Given the description of an element on the screen output the (x, y) to click on. 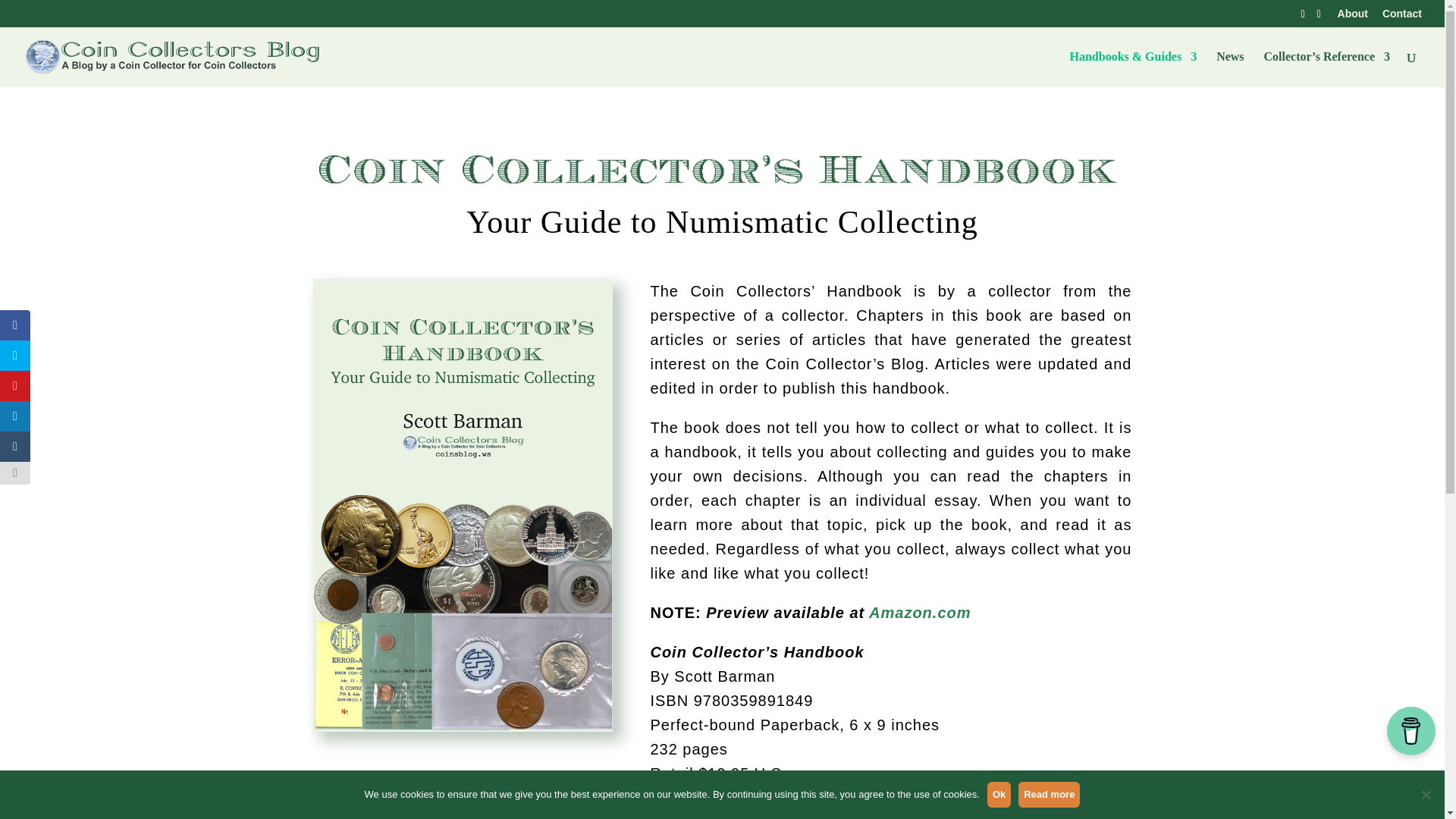
Amazon.com (920, 612)
About (1353, 16)
Contact (1401, 16)
CCH-Title-Banner (722, 170)
No (1425, 794)
